Given the description of an element on the screen output the (x, y) to click on. 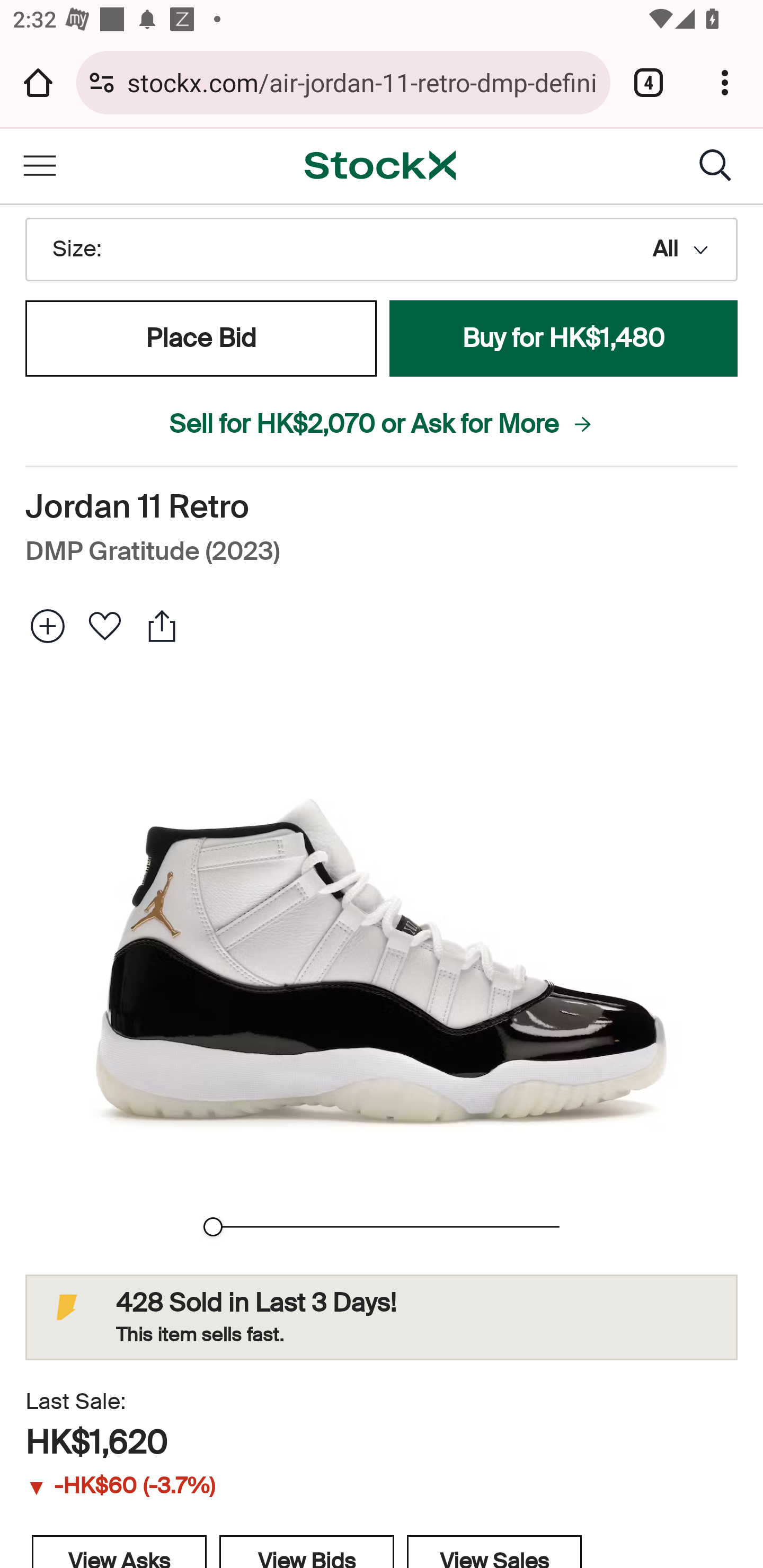
Open the home page (38, 82)
Connection is secure (101, 82)
Switch or close tabs (648, 82)
Customize and control Google Chrome (724, 82)
